Given the description of an element on the screen output the (x, y) to click on. 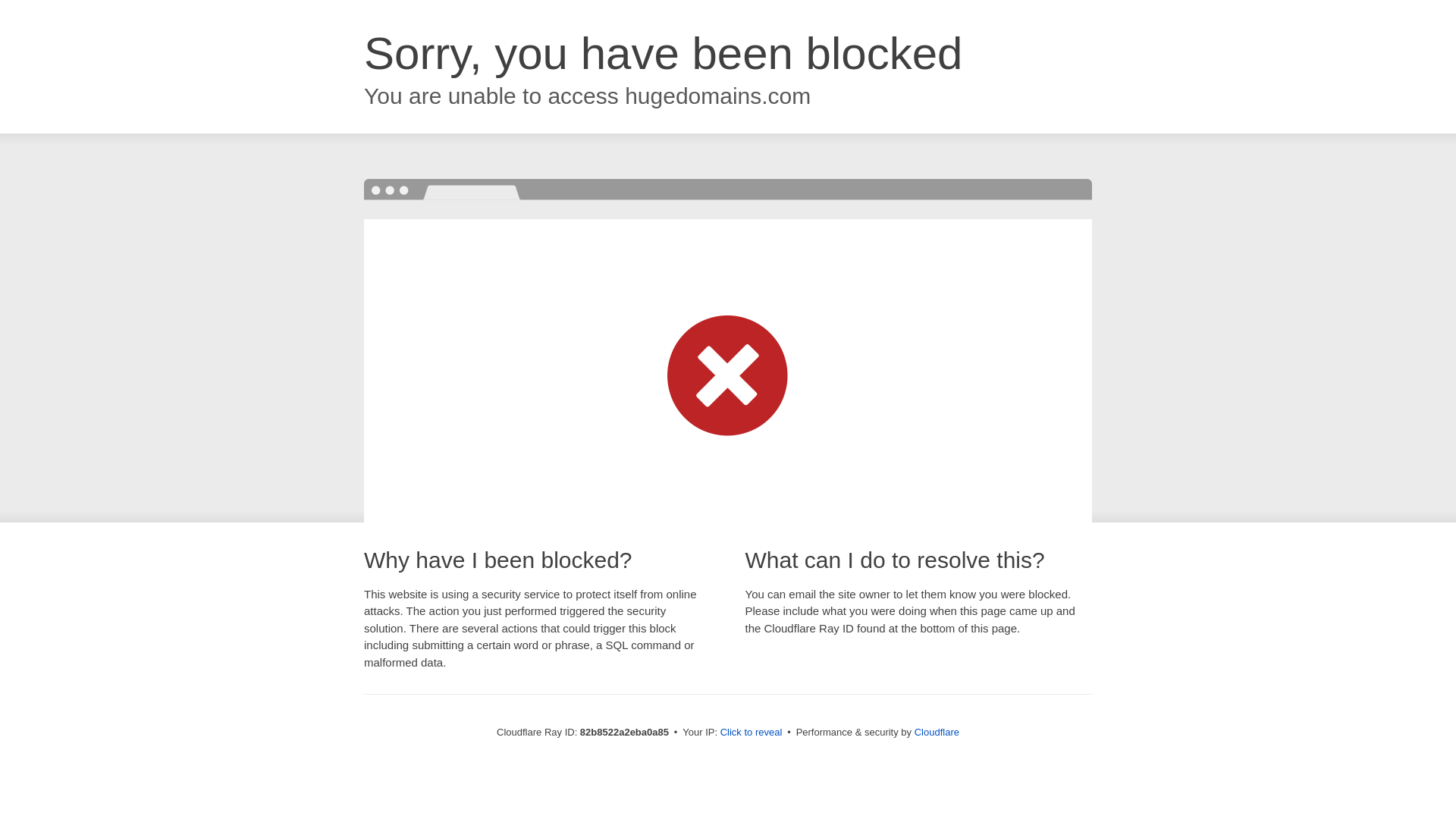
Cloudflare Element type: text (936, 731)
Click to reveal Element type: text (751, 732)
